Given the description of an element on the screen output the (x, y) to click on. 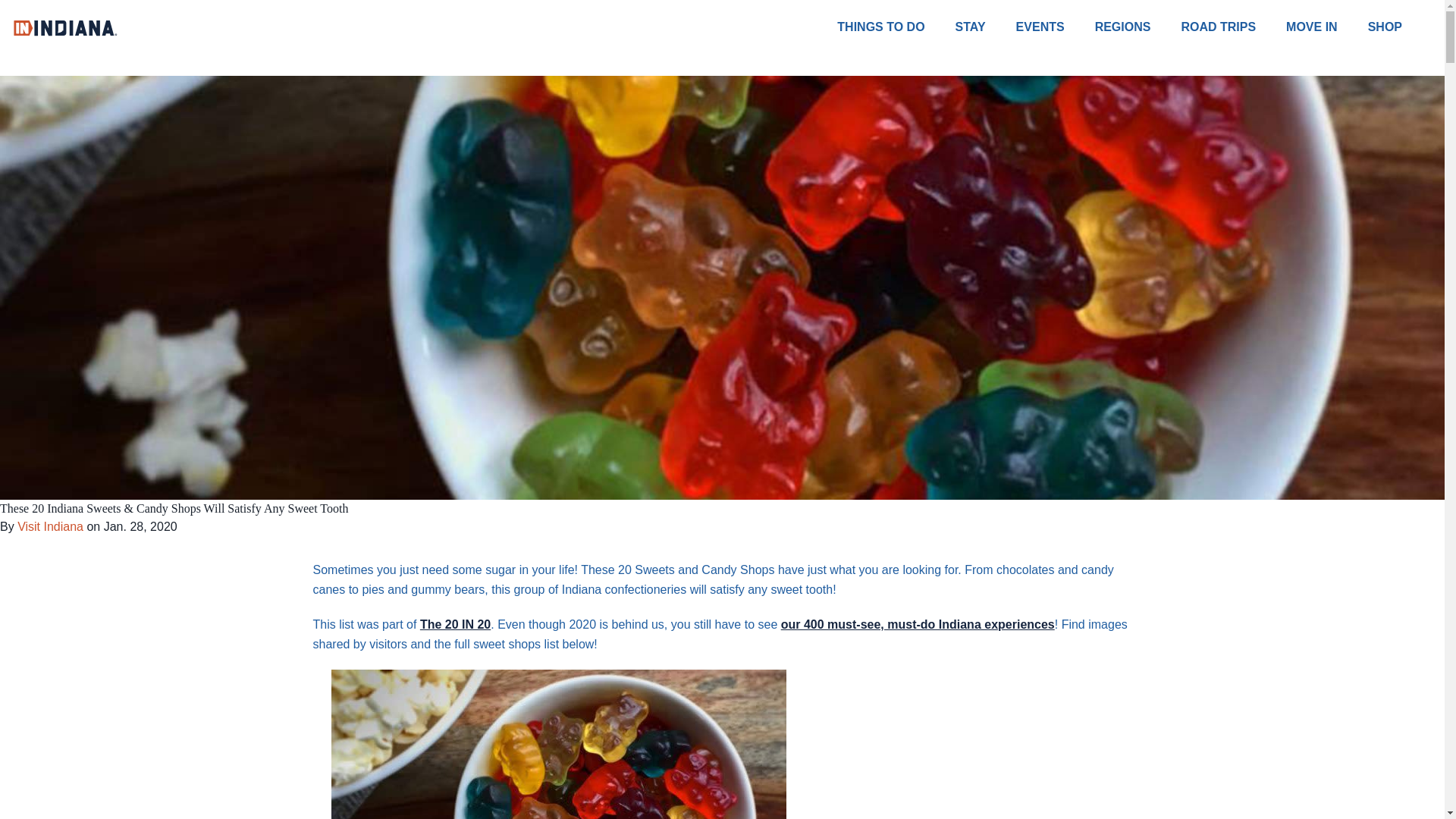
ROAD TRIPS (1232, 27)
THINGS TO DO (896, 27)
STAY (985, 27)
REGIONS (1137, 27)
EVENTS (1055, 27)
SHOP (1400, 27)
MOVE IN (1326, 27)
